Given the description of an element on the screen output the (x, y) to click on. 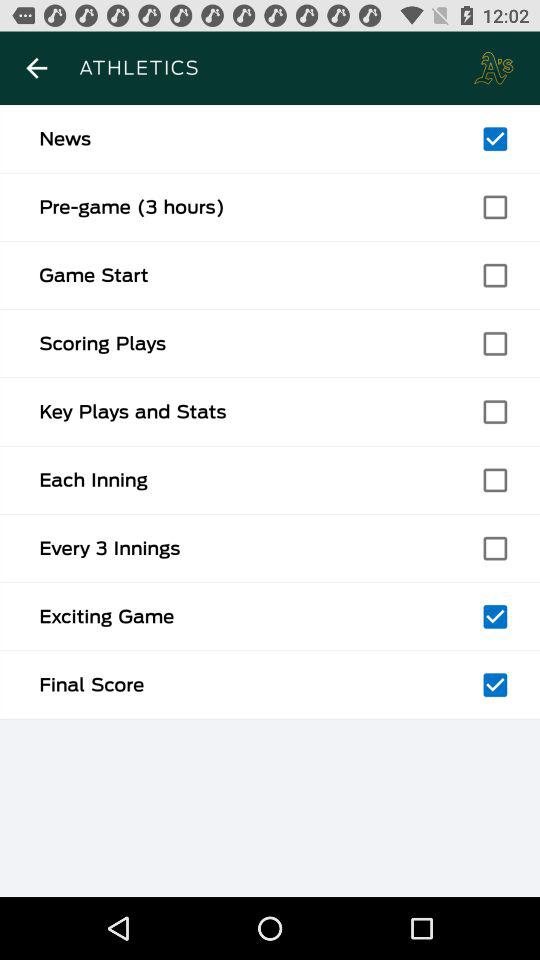
toggle key plays and stats (495, 412)
